Given the description of an element on the screen output the (x, y) to click on. 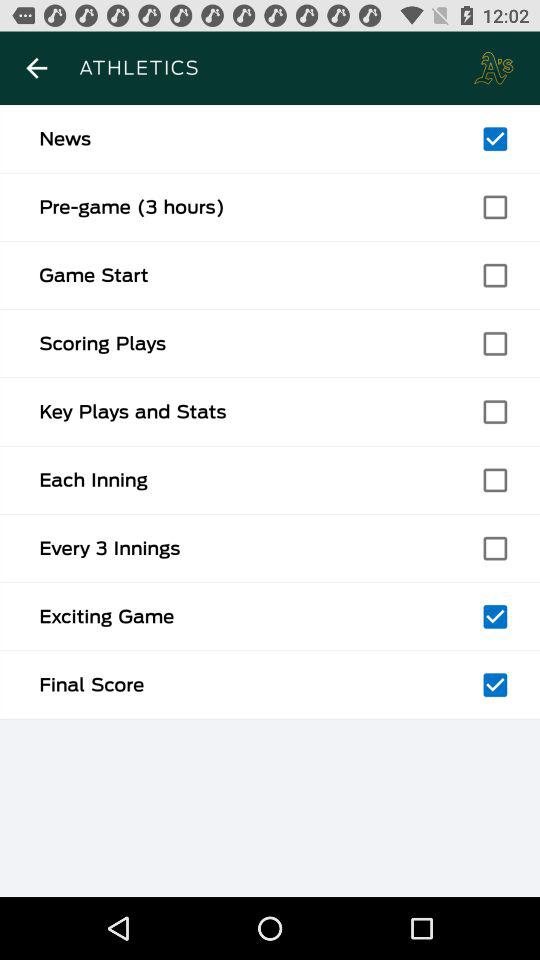
toggle key plays and stats (495, 412)
